Given the description of an element on the screen output the (x, y) to click on. 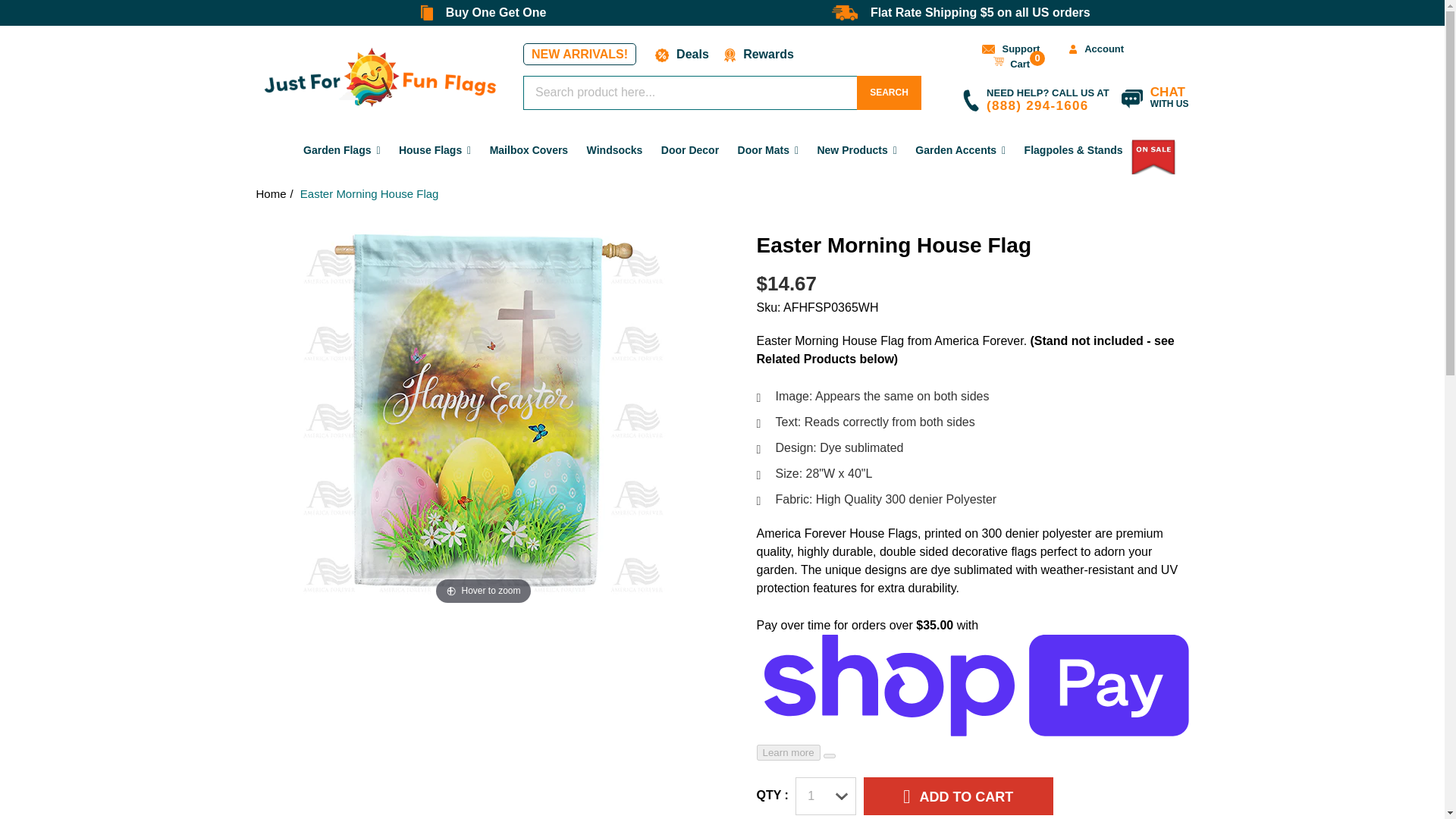
Support (1006, 48)
Just for Fun Flags and Windsocks (380, 77)
NEW ARRIVALS! (588, 53)
Garden Flags (341, 150)
Account (1092, 48)
SEARCH (1151, 100)
Deals (889, 92)
Rewards (689, 53)
Buy One Get One (1007, 59)
